Given the description of an element on the screen output the (x, y) to click on. 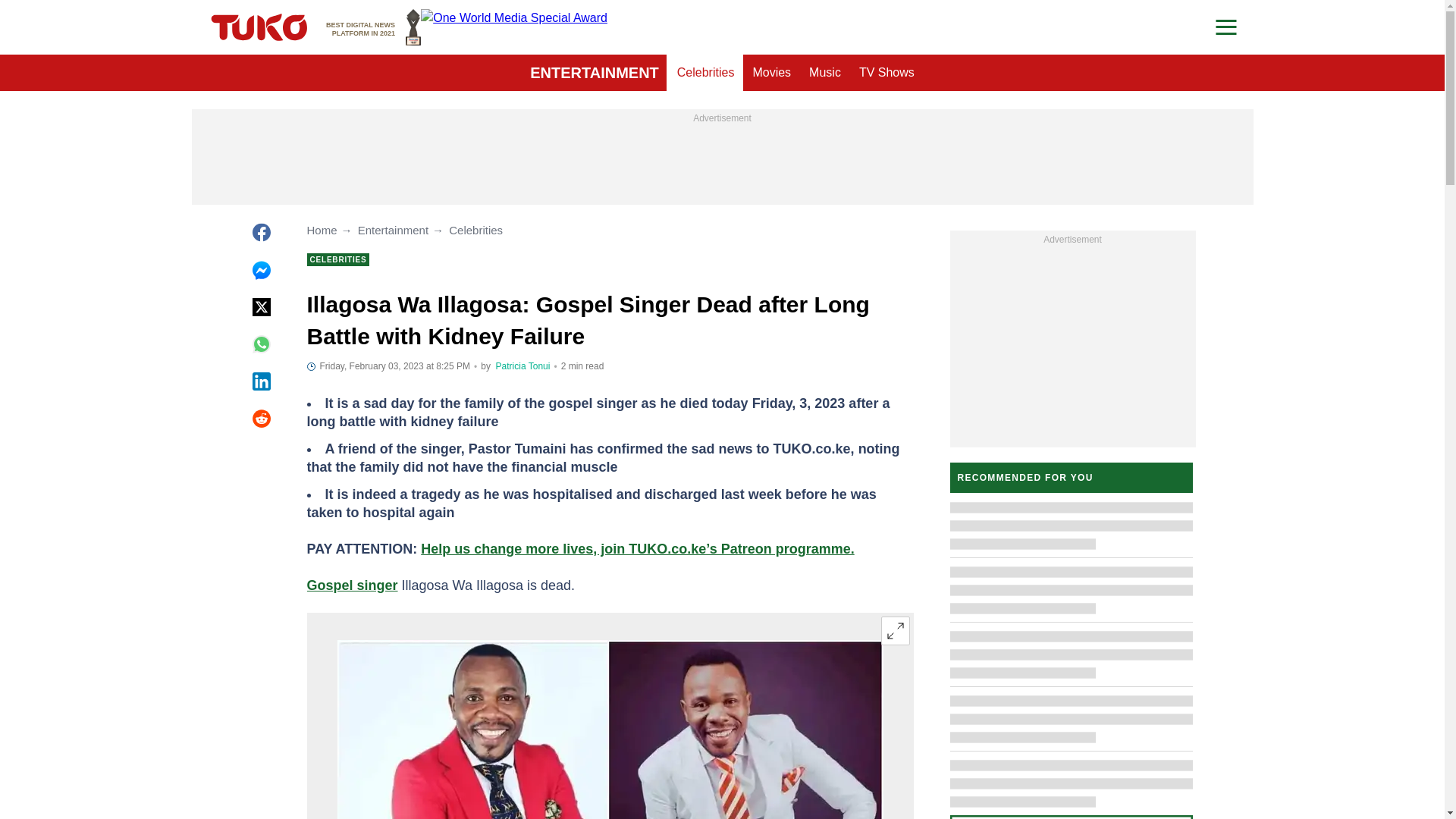
Movies (770, 72)
Illagosa Wa Illagosa. (609, 729)
TV Shows (886, 72)
Music (824, 72)
Author page (373, 27)
ENTERTAINMENT (523, 366)
Expand image (594, 72)
Celebrities (895, 630)
